Given the description of an element on the screen output the (x, y) to click on. 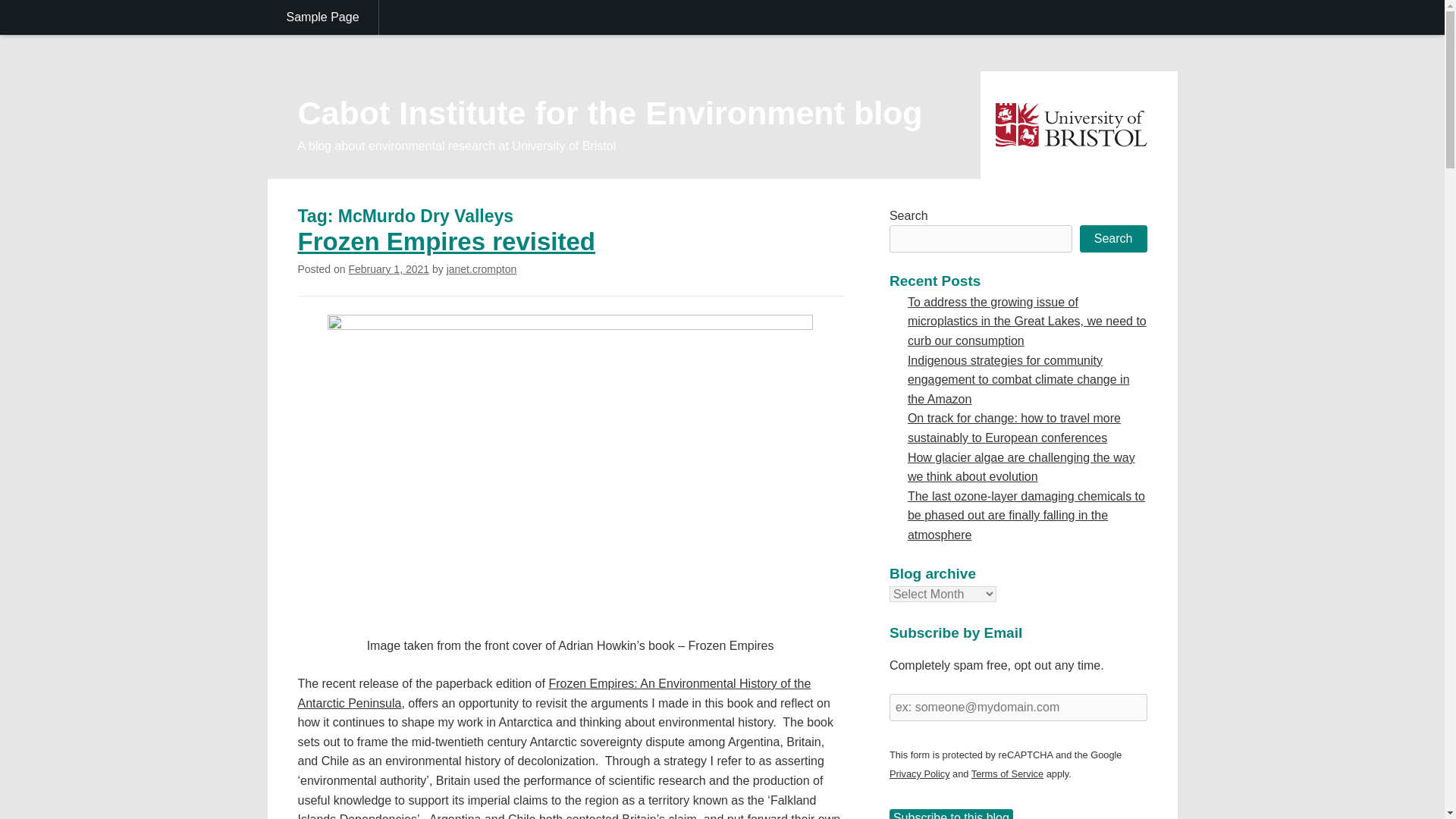
Sample Page (322, 17)
janet.crompton (481, 268)
Privacy Policy (919, 773)
Subscribe to this blog (951, 814)
Frozen Empires revisited (445, 241)
February 1, 2021 (388, 268)
Subscribe to this blog (951, 814)
Terms of Service (1007, 773)
Cabot Institute for the Environment blog (609, 113)
Search (1113, 238)
